Given the description of an element on the screen output the (x, y) to click on. 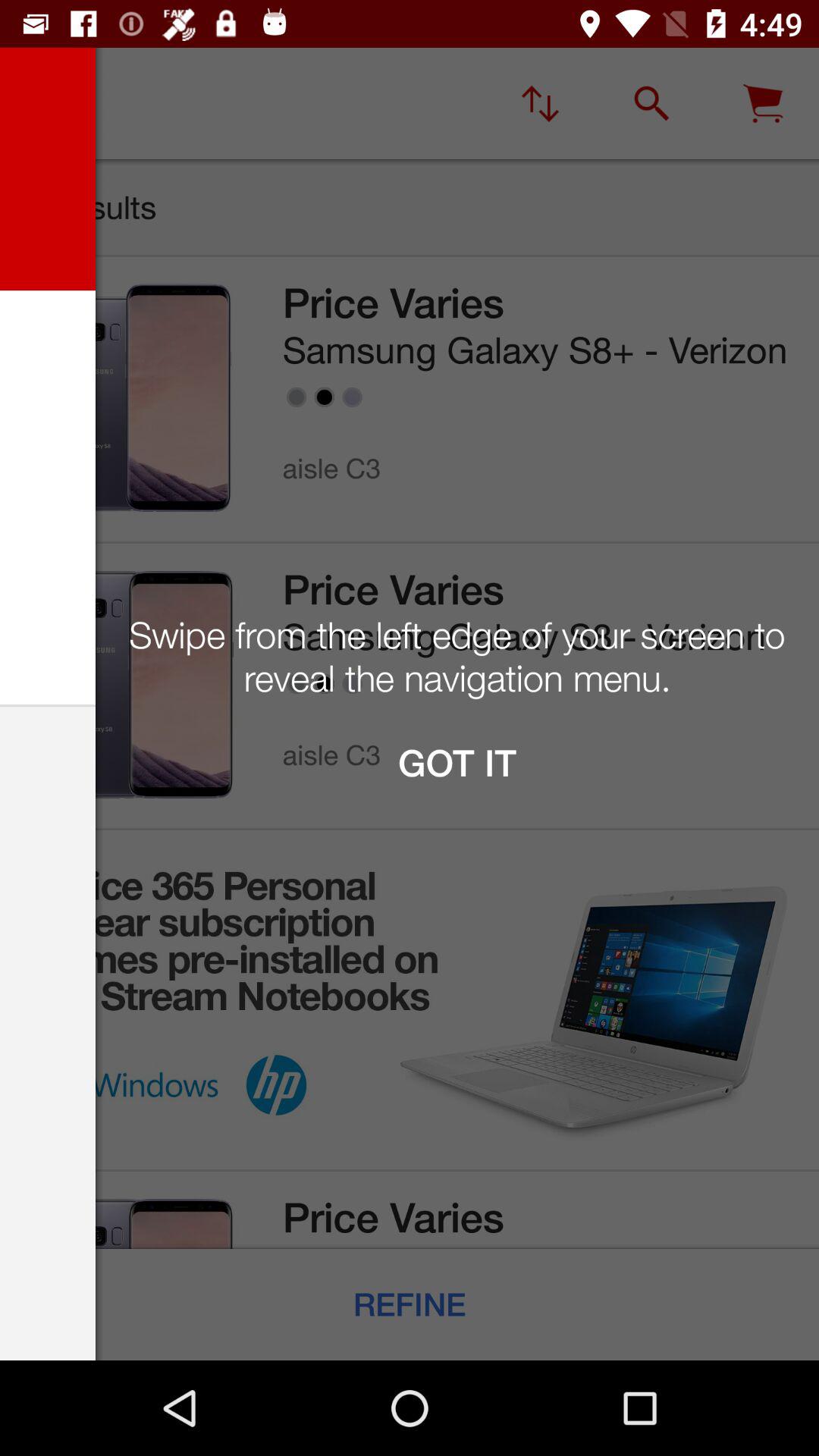
turn off got it icon (457, 763)
